Given the description of an element on the screen output the (x, y) to click on. 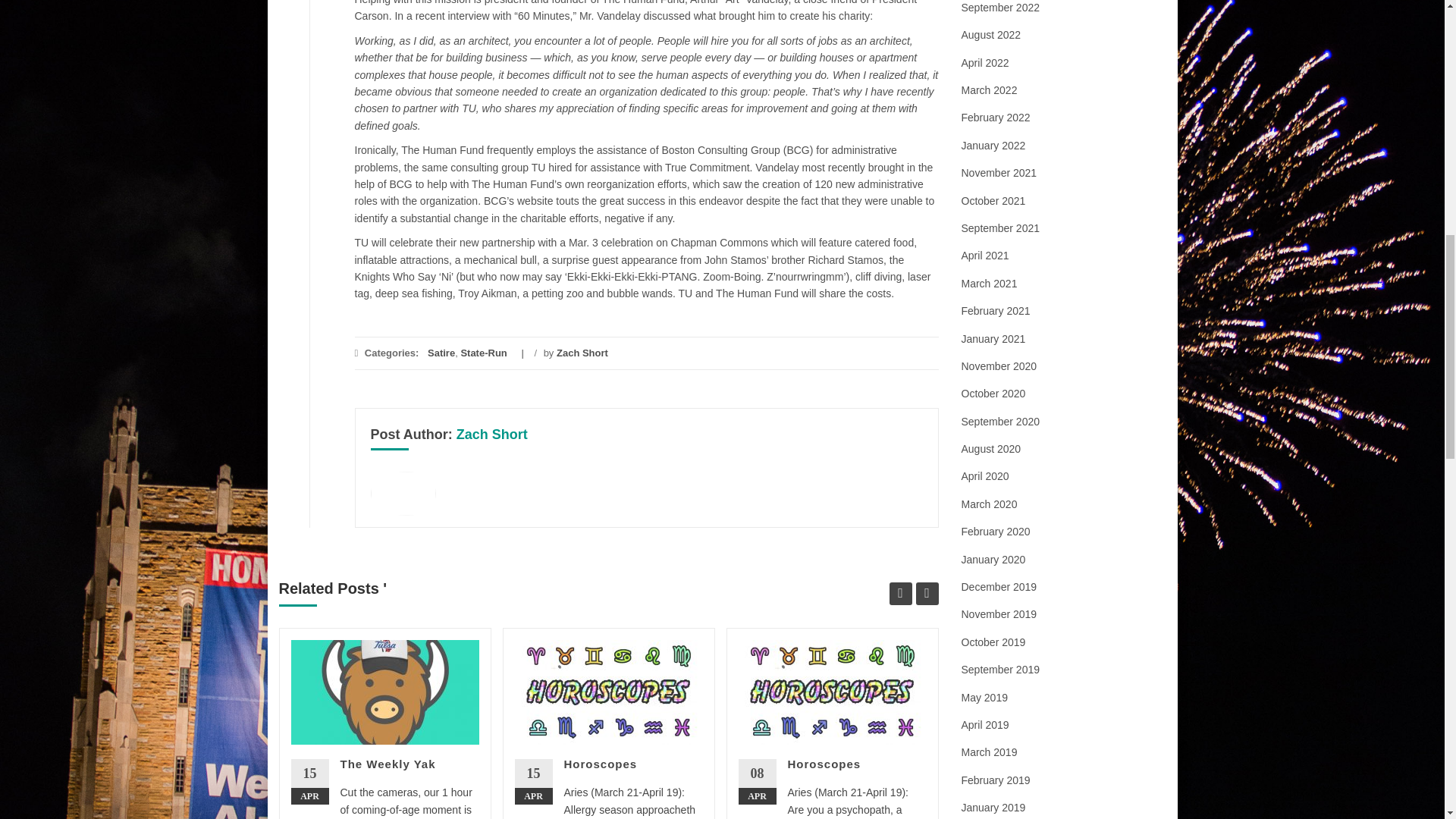
Zach Short (582, 352)
Zach Short (492, 434)
Satire (441, 352)
State-Run (483, 352)
